Given the description of an element on the screen output the (x, y) to click on. 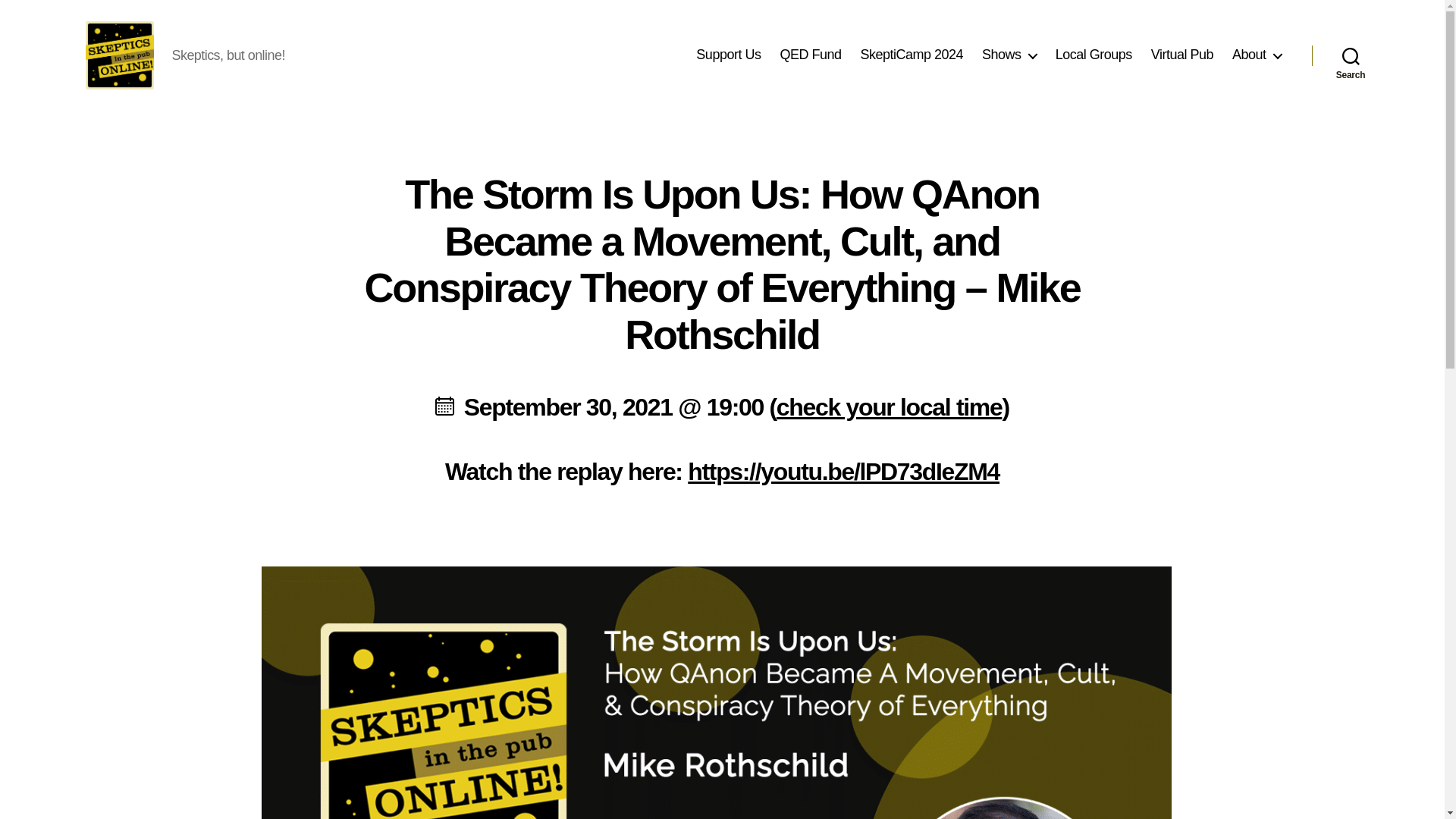
About (1256, 54)
SkeptiCamp 2024 (911, 54)
All about SitPO (1256, 54)
Support Us (727, 54)
Search (1350, 55)
QED Fund (809, 54)
Shows (1008, 54)
Local Groups (1093, 54)
Virtual Pub (1181, 54)
See all past and future shows (1008, 54)
